Given the description of an element on the screen output the (x, y) to click on. 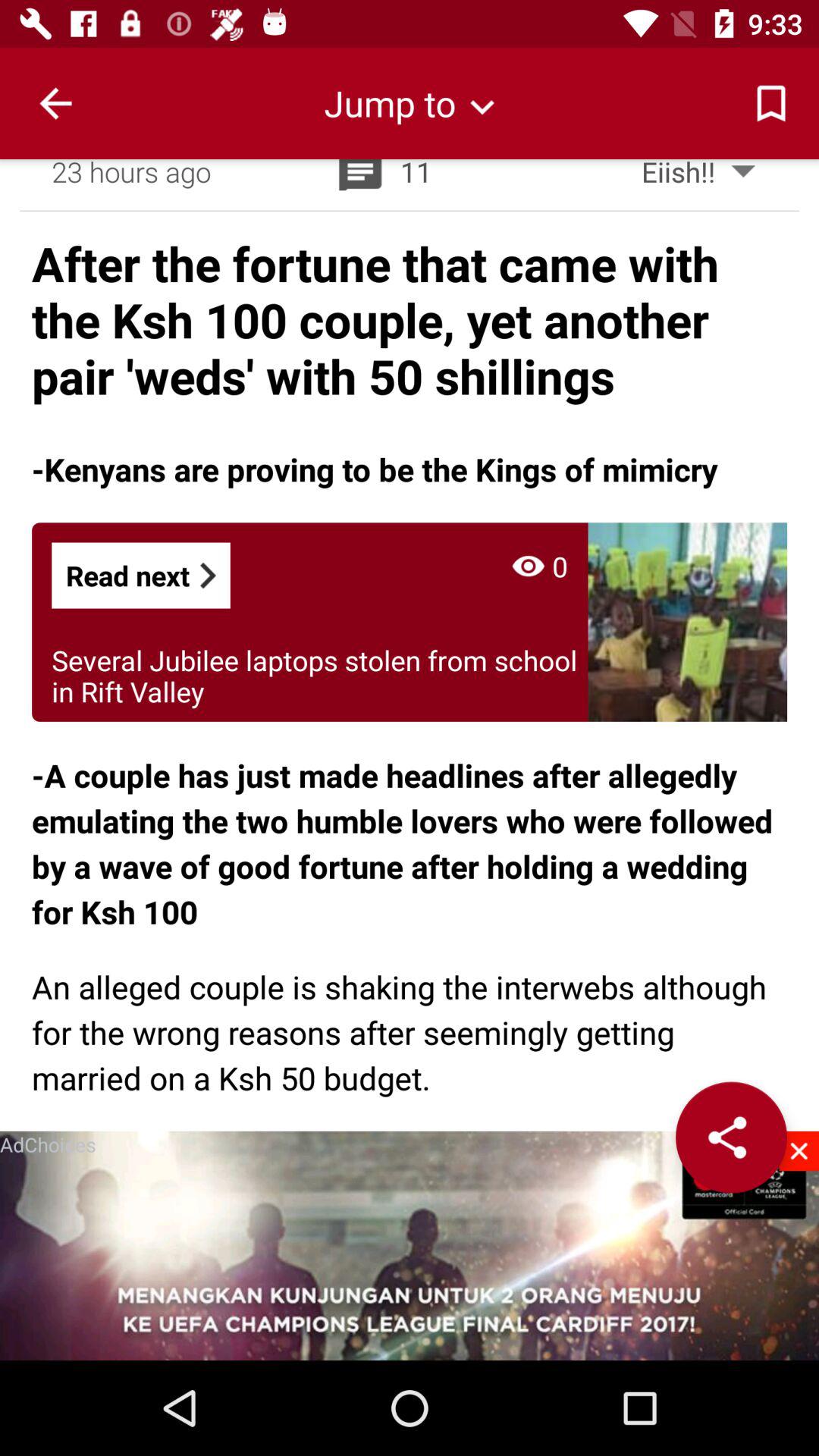
choose item below after the fortune icon (374, 468)
